Given the description of an element on the screen output the (x, y) to click on. 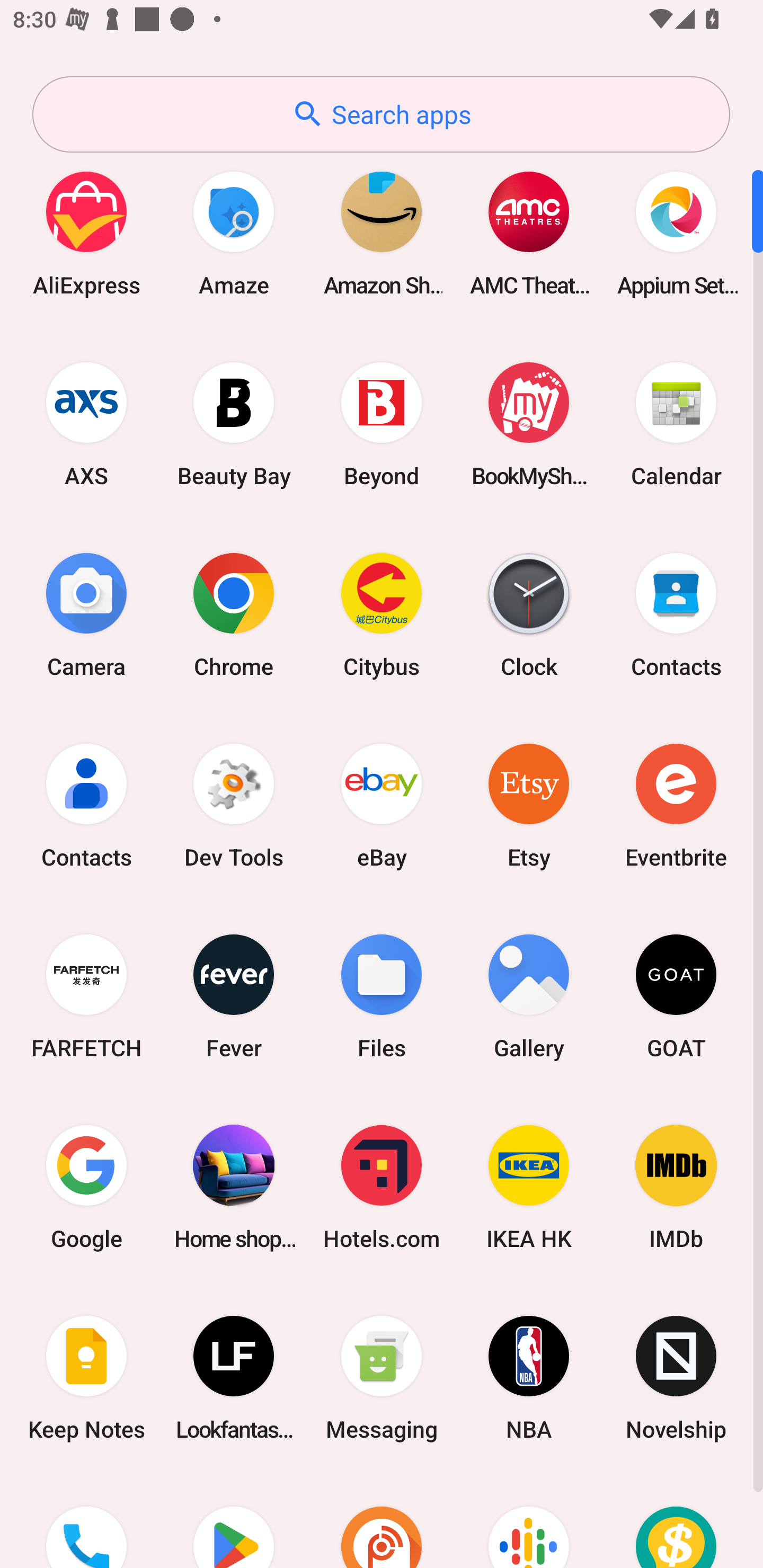
  Search apps (381, 114)
AliExpress (86, 233)
Amaze (233, 233)
Amazon Shopping (381, 233)
AMC Theatres (528, 233)
Appium Settings (676, 233)
AXS (86, 424)
Beauty Bay (233, 424)
Beyond (381, 424)
BookMyShow (528, 424)
Calendar (676, 424)
Camera (86, 614)
Chrome (233, 614)
Citybus (381, 614)
Clock (528, 614)
Contacts (676, 614)
Contacts (86, 805)
Dev Tools (233, 805)
eBay (381, 805)
Etsy (528, 805)
Eventbrite (676, 805)
FARFETCH (86, 996)
Fever (233, 996)
Files (381, 996)
Gallery (528, 996)
GOAT (676, 996)
Google (86, 1186)
Home shopping (233, 1186)
Hotels.com (381, 1186)
IKEA HK (528, 1186)
IMDb (676, 1186)
Keep Notes (86, 1377)
Lookfantastic (233, 1377)
Messaging (381, 1377)
NBA (528, 1377)
Novelship (676, 1377)
Phone (86, 1520)
Play Store (233, 1520)
Podcast Addict (381, 1520)
Podcasts (528, 1520)
Price (676, 1520)
